Given the description of an element on the screen output the (x, y) to click on. 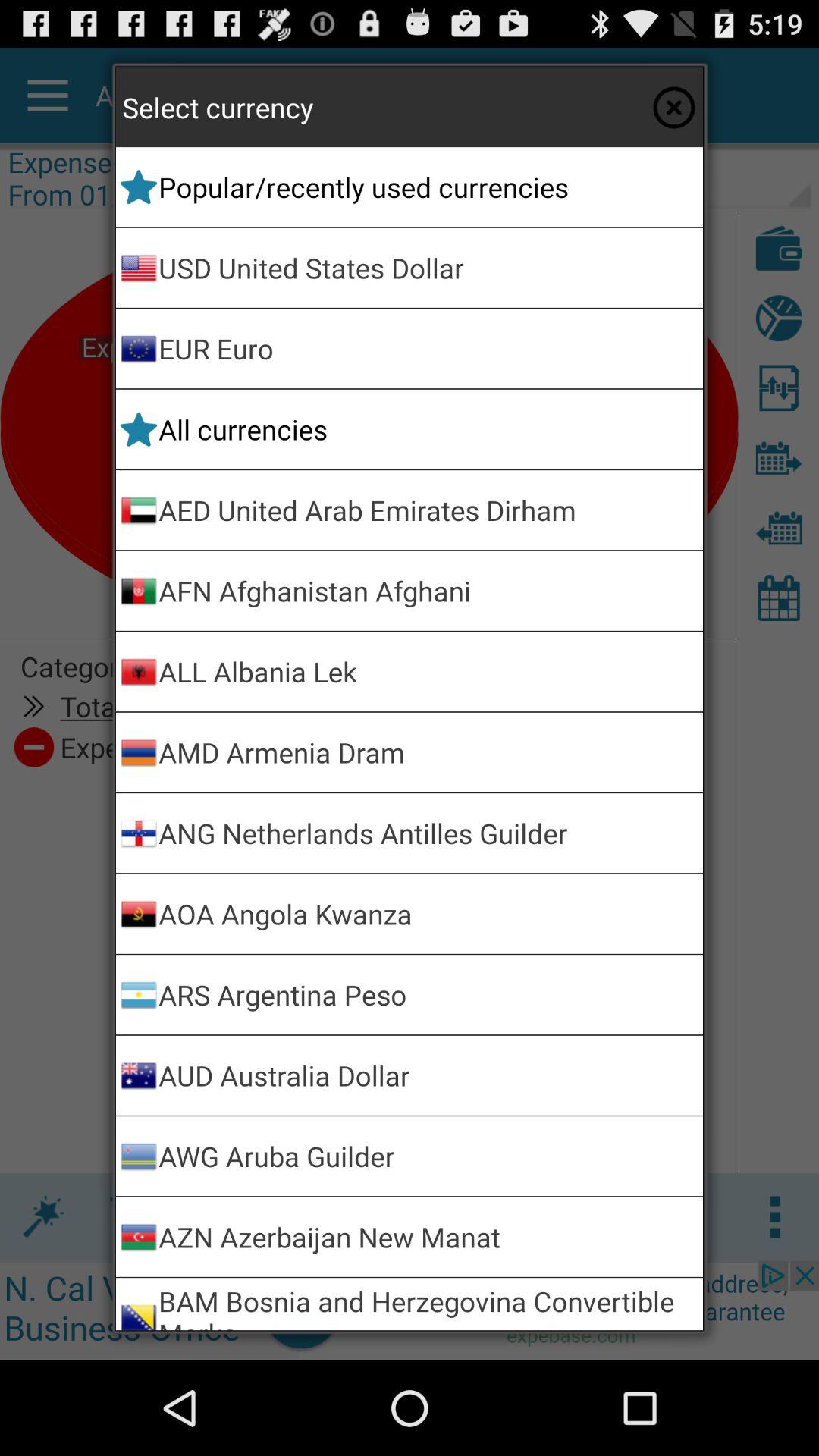
open app below aoa angola kwanza icon (427, 994)
